Given the description of an element on the screen output the (x, y) to click on. 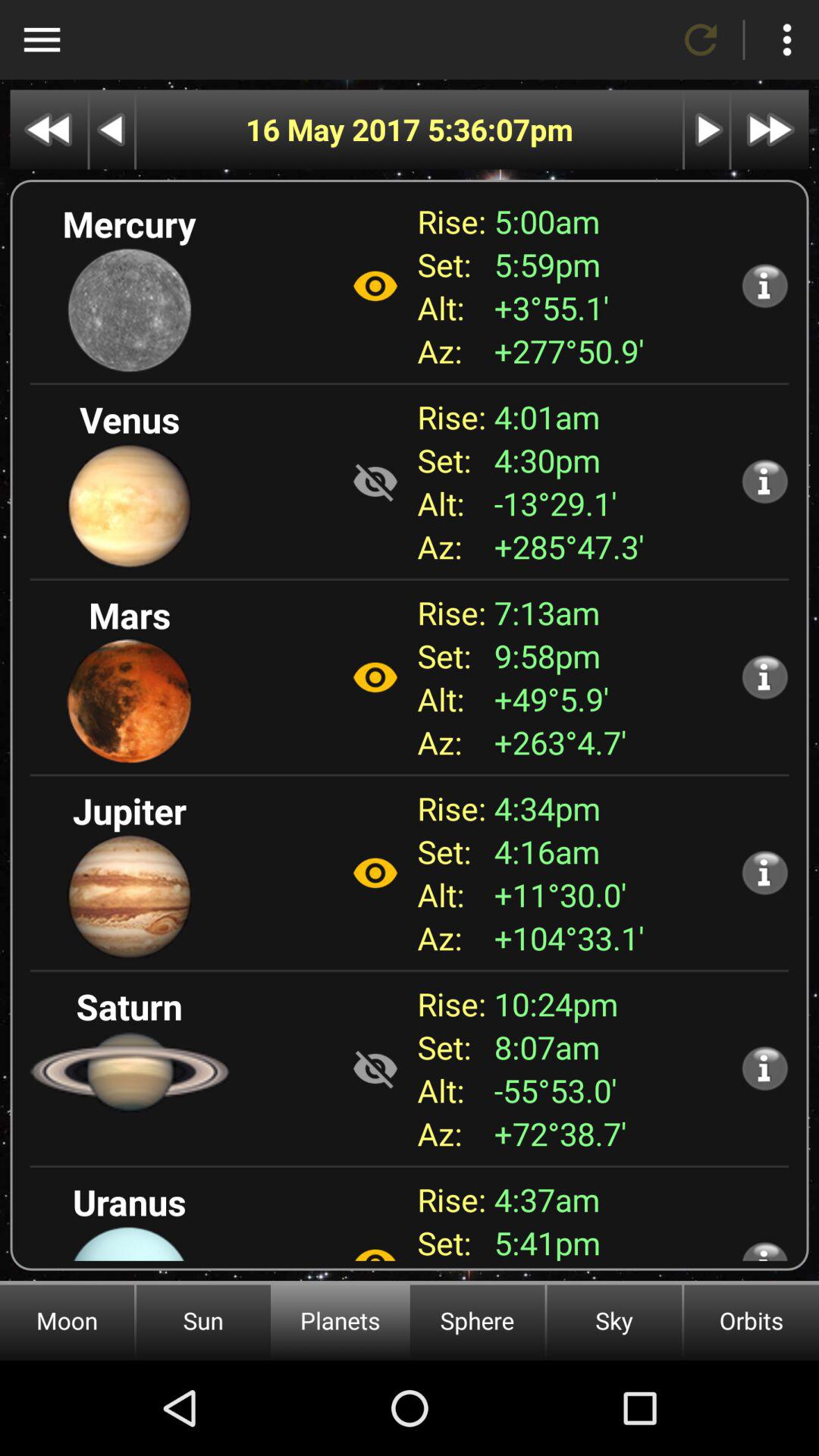
information icon (764, 1068)
